Given the description of an element on the screen output the (x, y) to click on. 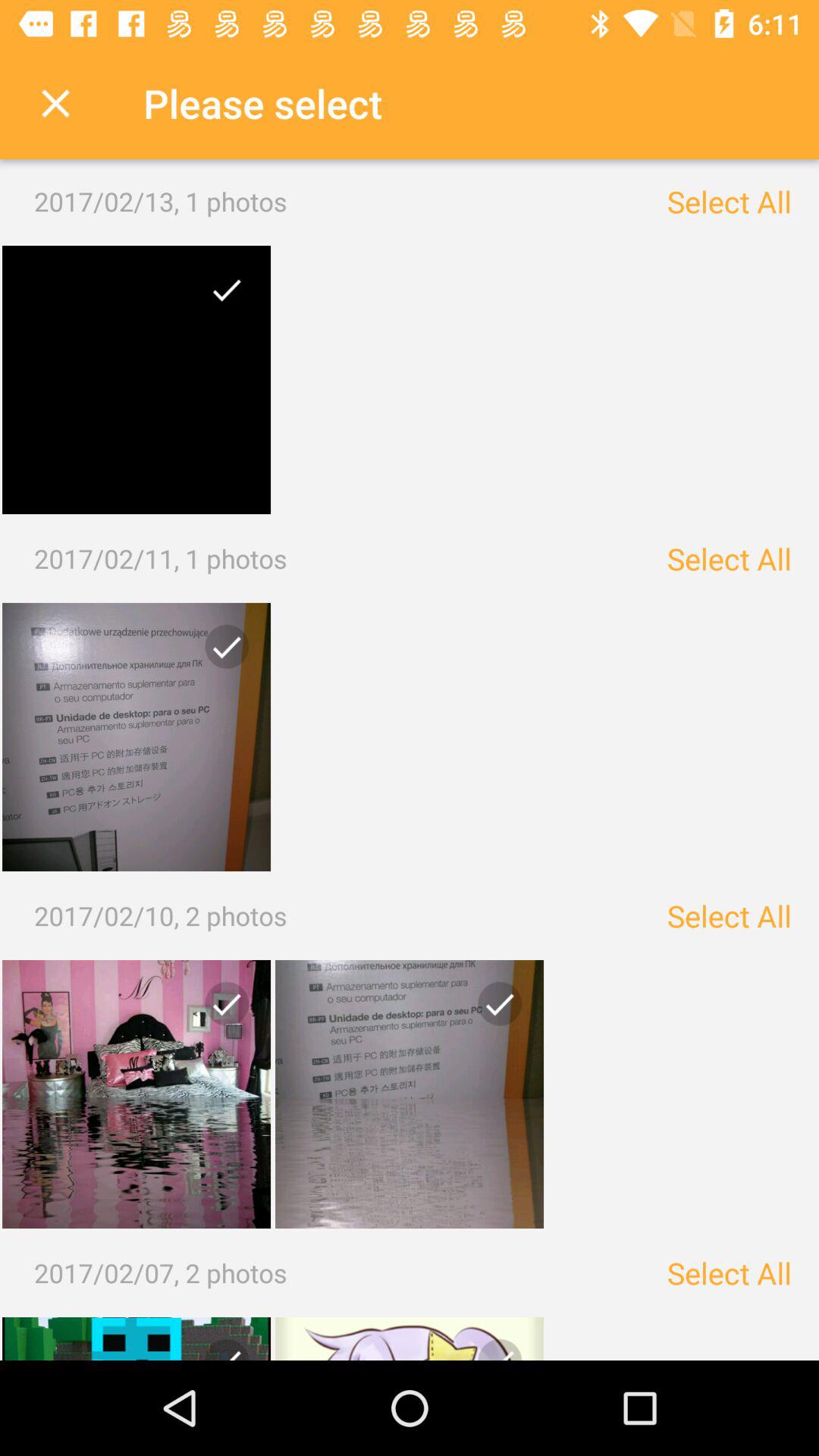
select/deselect picture (409, 1094)
